Given the description of an element on the screen output the (x, y) to click on. 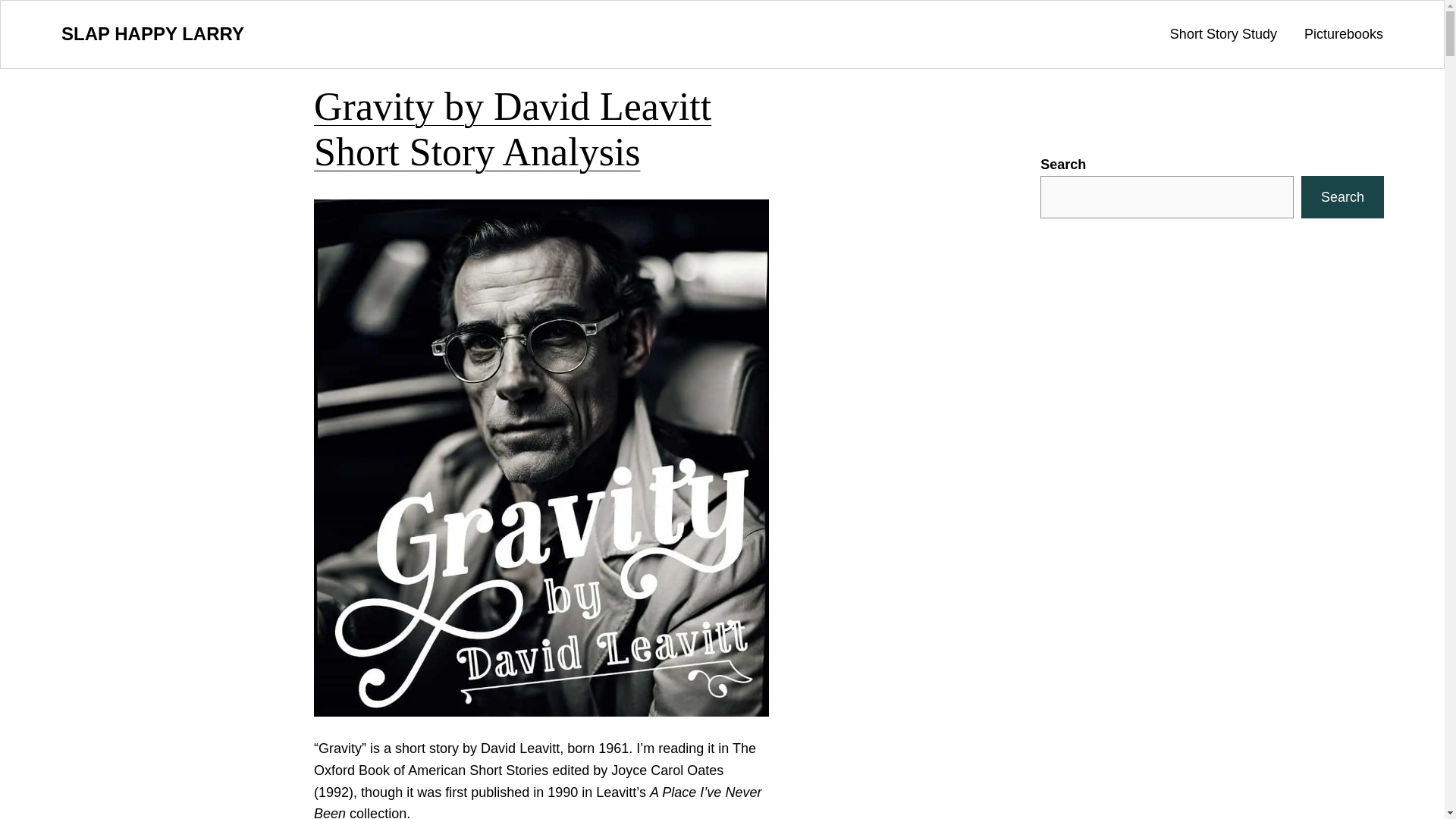
Search (1342, 197)
Picturebooks (1343, 34)
SLAP HAPPY LARRY (152, 33)
Short Story Study (1223, 34)
Gravity by David Leavitt Short Story Analysis (541, 129)
